Given the description of an element on the screen output the (x, y) to click on. 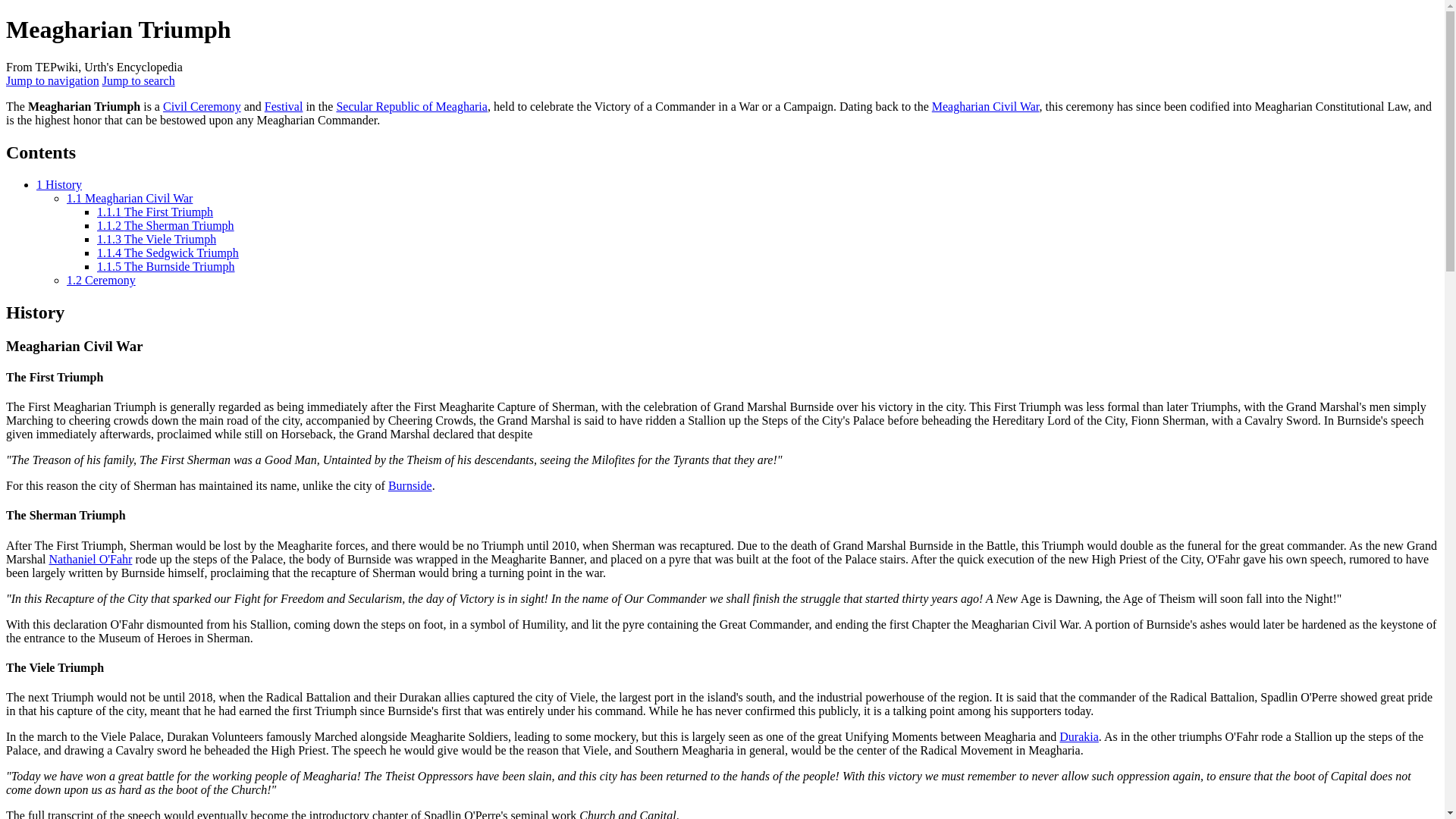
1.1.4 The Sedgwick Triumph (167, 252)
Nathaniel O'Fahr (90, 558)
1.1.2 The Sherman Triumph (165, 225)
Jump to navigation (52, 80)
1.2 Ceremony (100, 279)
Festival (283, 106)
Burnside (410, 485)
Durakia (1079, 736)
Nathaniel O'Fahr (90, 558)
Meagharian Civil War (985, 106)
